Given the description of an element on the screen output the (x, y) to click on. 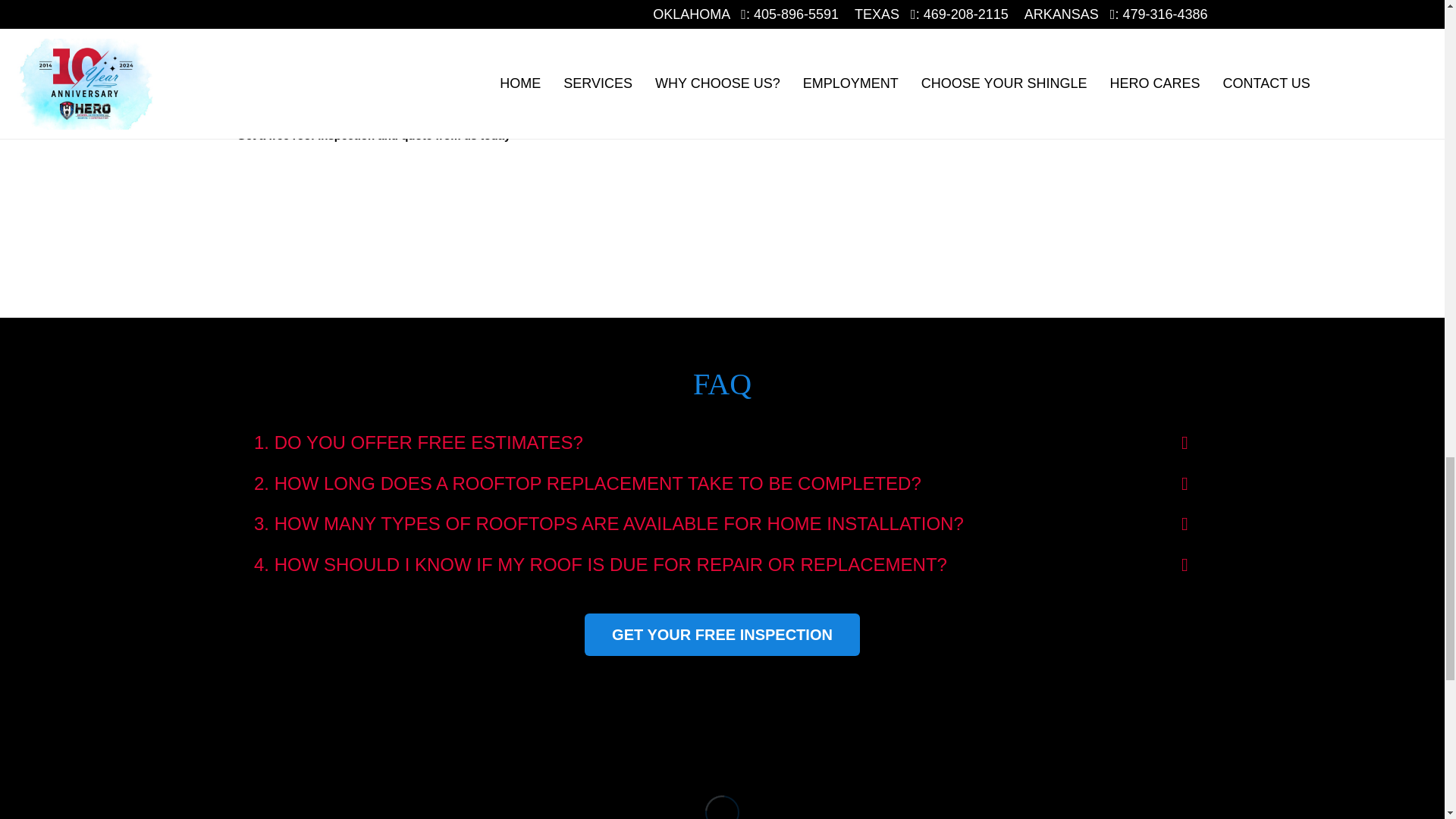
GET YOUR FREE INSPECTION (722, 634)
2. HOW LONG DOES A ROOFTOP REPLACEMENT TAKE TO BE COMPLETED? (721, 484)
1. DO YOU OFFER FREE ESTIMATES? (721, 443)
